Given the description of an element on the screen output the (x, y) to click on. 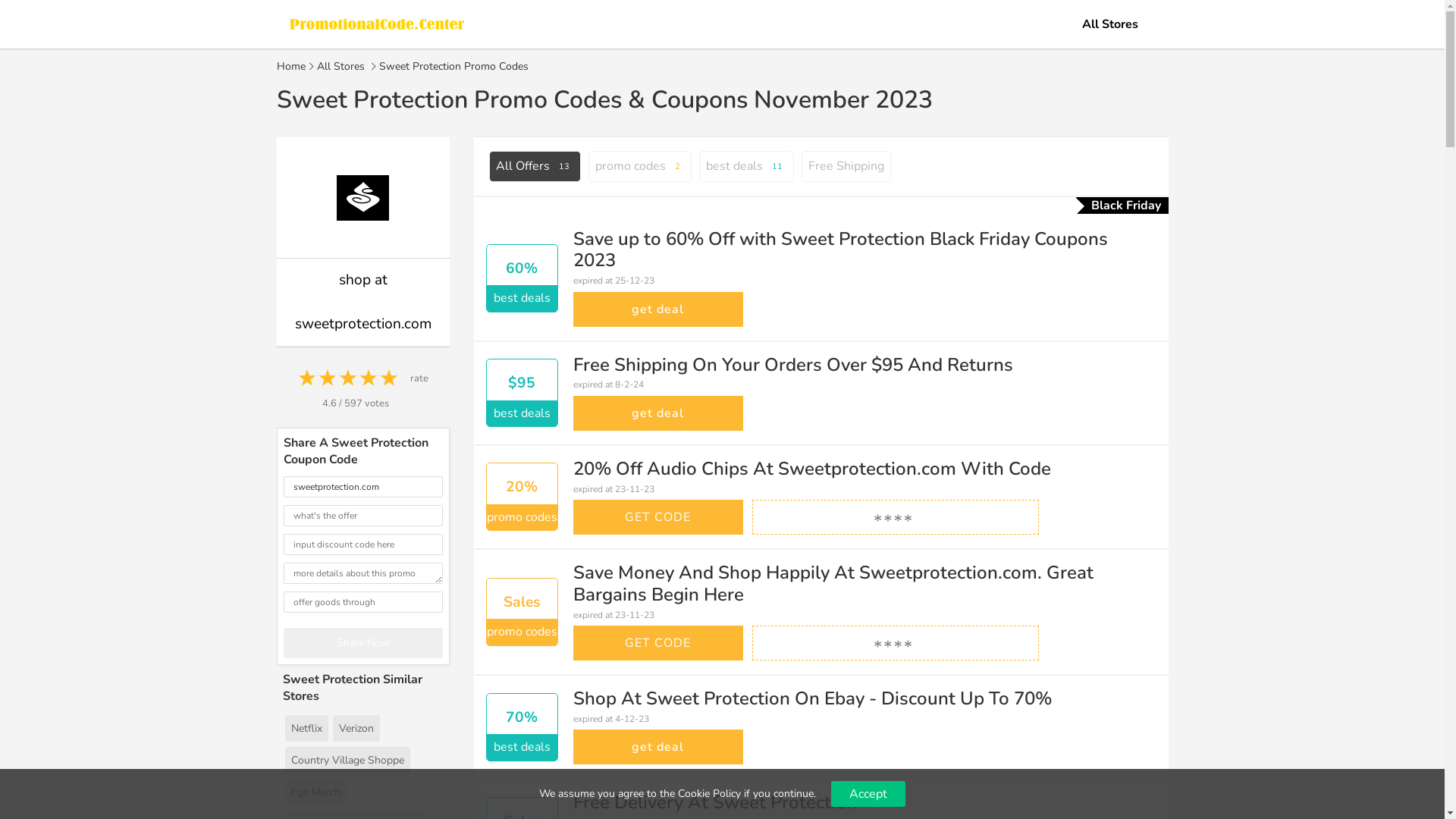
Fge Merch Element type: text (315, 792)
Share Now Element type: text (362, 642)
Accept Element type: text (868, 793)
Netflix Element type: text (306, 728)
Verizon Element type: text (355, 728)
GET CODE Element type: text (658, 516)
Country Village Shoppe Element type: text (347, 760)
GET CODE Element type: text (658, 642)
All Stores Element type: text (1109, 24)
Home Element type: text (290, 66)
All Stores Element type: text (340, 66)
